Given the description of an element on the screen output the (x, y) to click on. 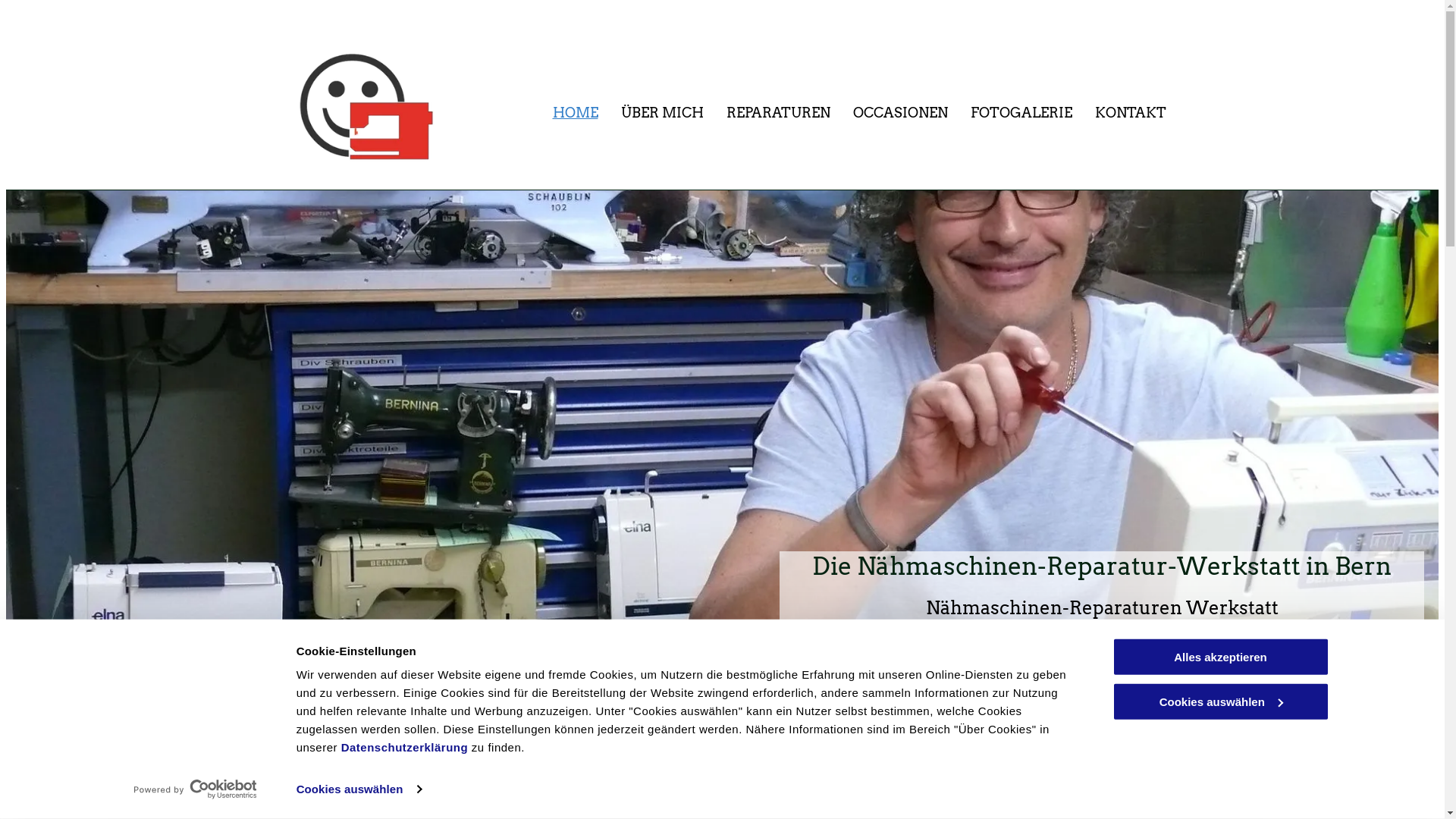
REPARATUREN Element type: text (778, 112)
OCCASIONEN Element type: text (899, 112)
HOME Element type: text (574, 112)
Alles akzeptieren Element type: text (1219, 656)
FOTOGALERIE Element type: text (1021, 112)
KONTAKT Element type: text (1130, 112)
